Given the description of an element on the screen output the (x, y) to click on. 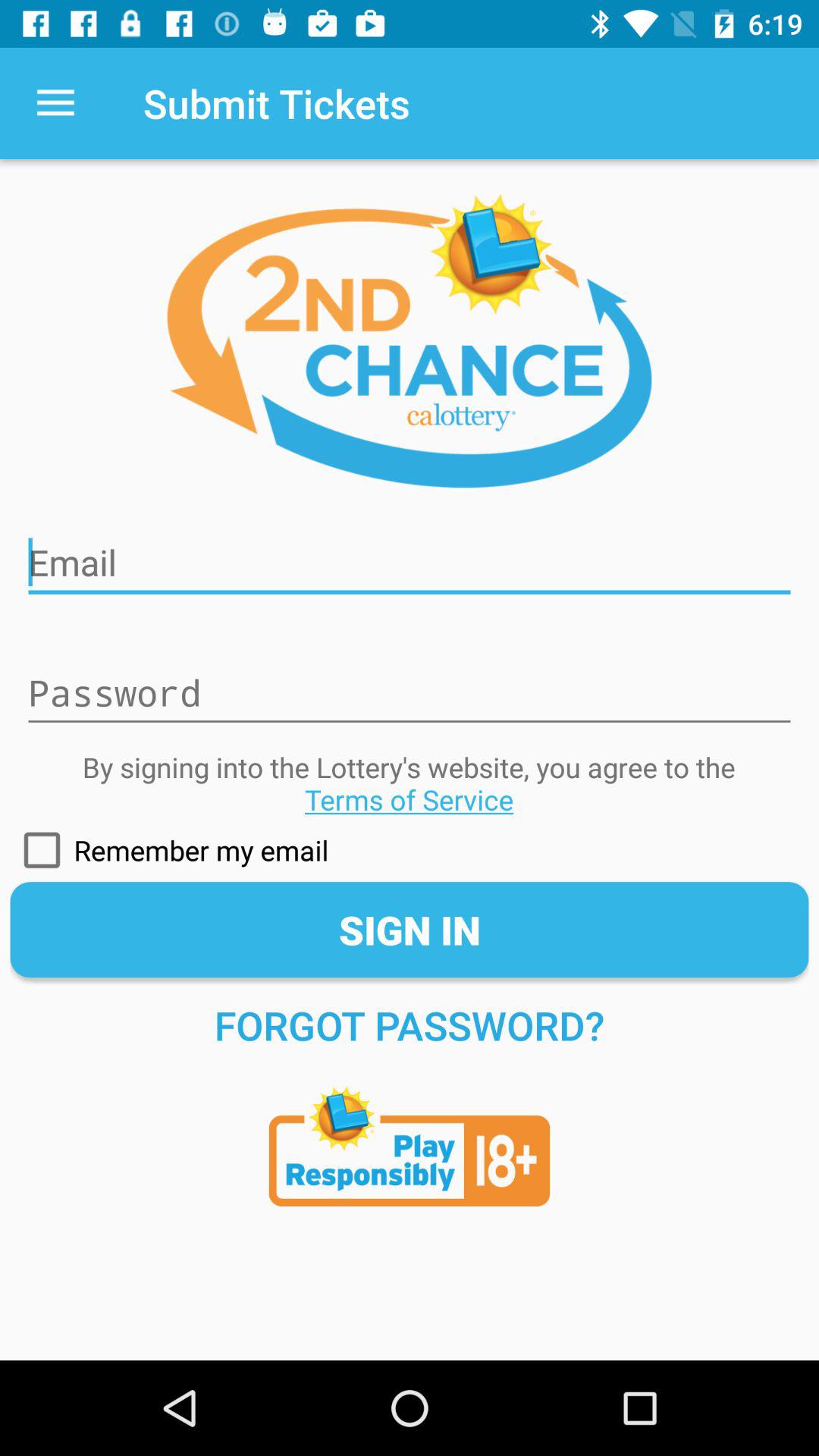
advertisement click (409, 1139)
